Given the description of an element on the screen output the (x, y) to click on. 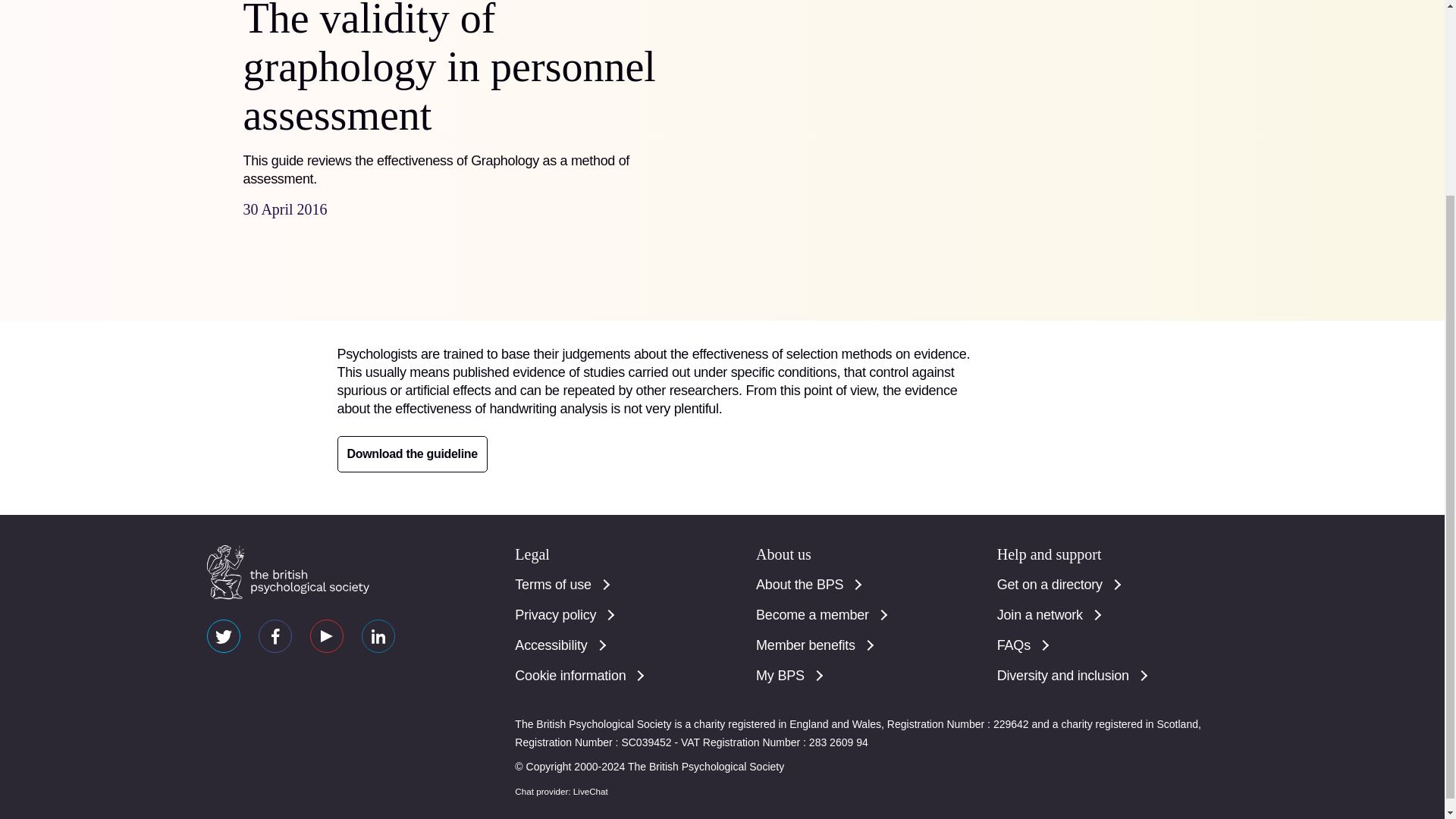
The British Psychological Society (287, 572)
